Given the description of an element on the screen output the (x, y) to click on. 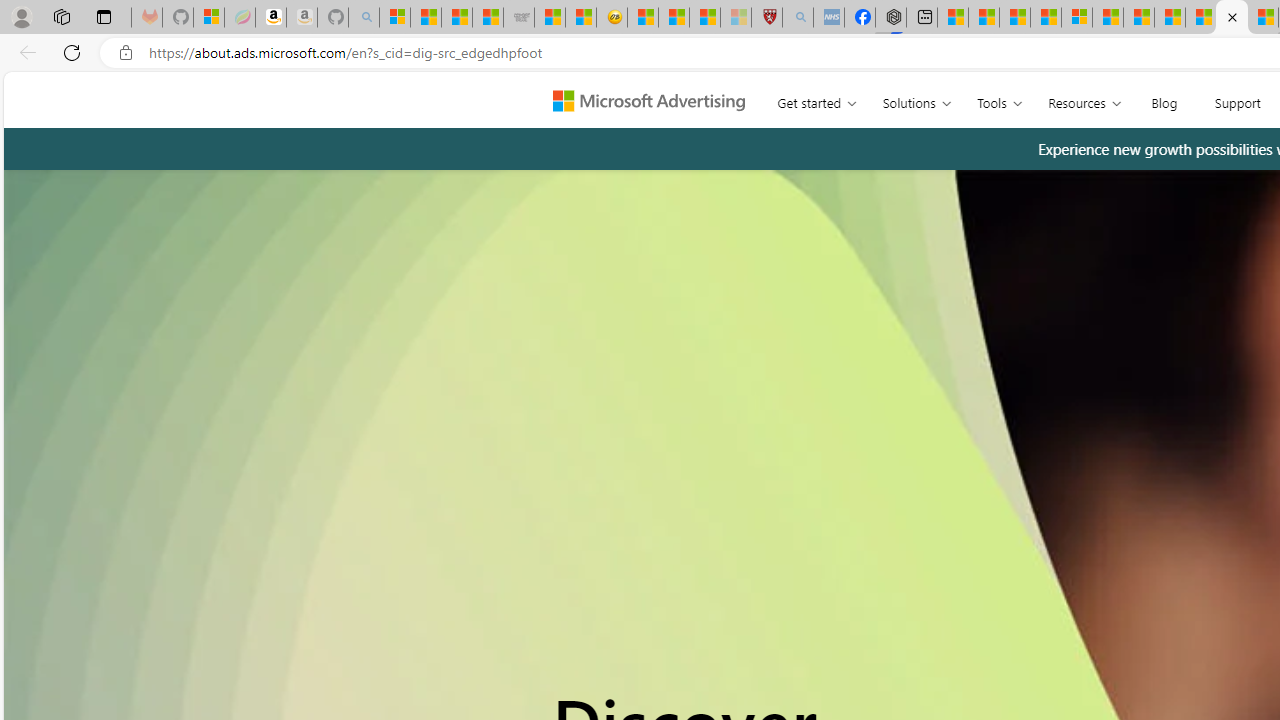
12 Popular Science Lies that Must be Corrected - Sleeping (735, 17)
Science - MSN (704, 17)
Create images, get help with writing, and search faster (496, 108)
